Given the description of an element on the screen output the (x, y) to click on. 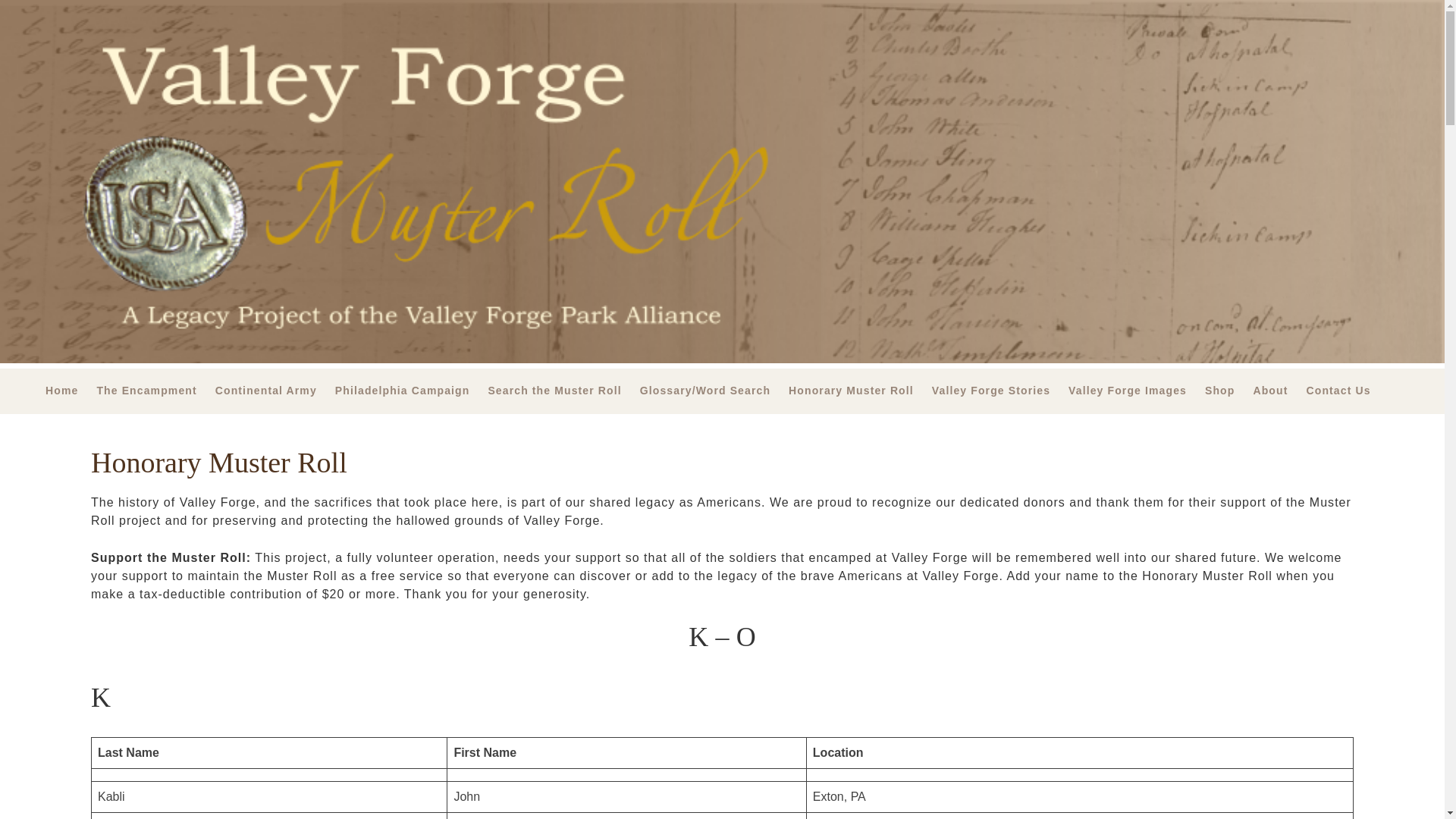
Continental Army (274, 391)
Home (70, 391)
Shop (1228, 391)
Valley Forge Images (1136, 391)
The Encampment (155, 391)
Philadelphia Campaign (410, 391)
Valley Forge Stories (999, 391)
Honorary Muster Roll (860, 391)
About (1279, 391)
Contact Us (1347, 391)
Search the Muster Roll (563, 391)
